Given the description of an element on the screen output the (x, y) to click on. 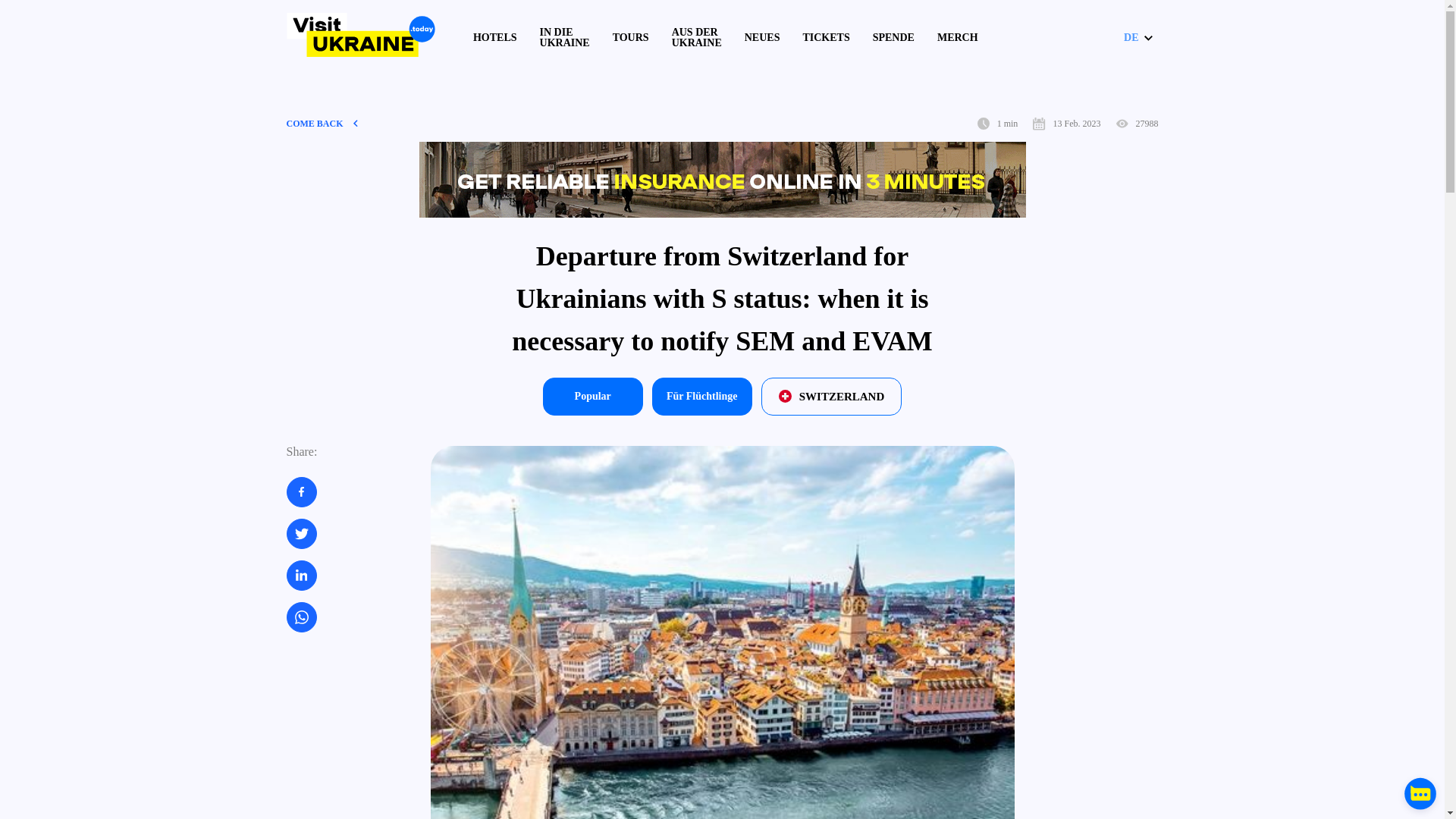
MERCH (957, 37)
NEUES (762, 37)
IN DIE UKRAINE (564, 37)
HOTELS (494, 37)
TICKETS (825, 37)
AUS DER UKRAINE (696, 37)
SPENDE (893, 37)
COME BACK (322, 122)
TOURS (630, 37)
